Given the description of an element on the screen output the (x, y) to click on. 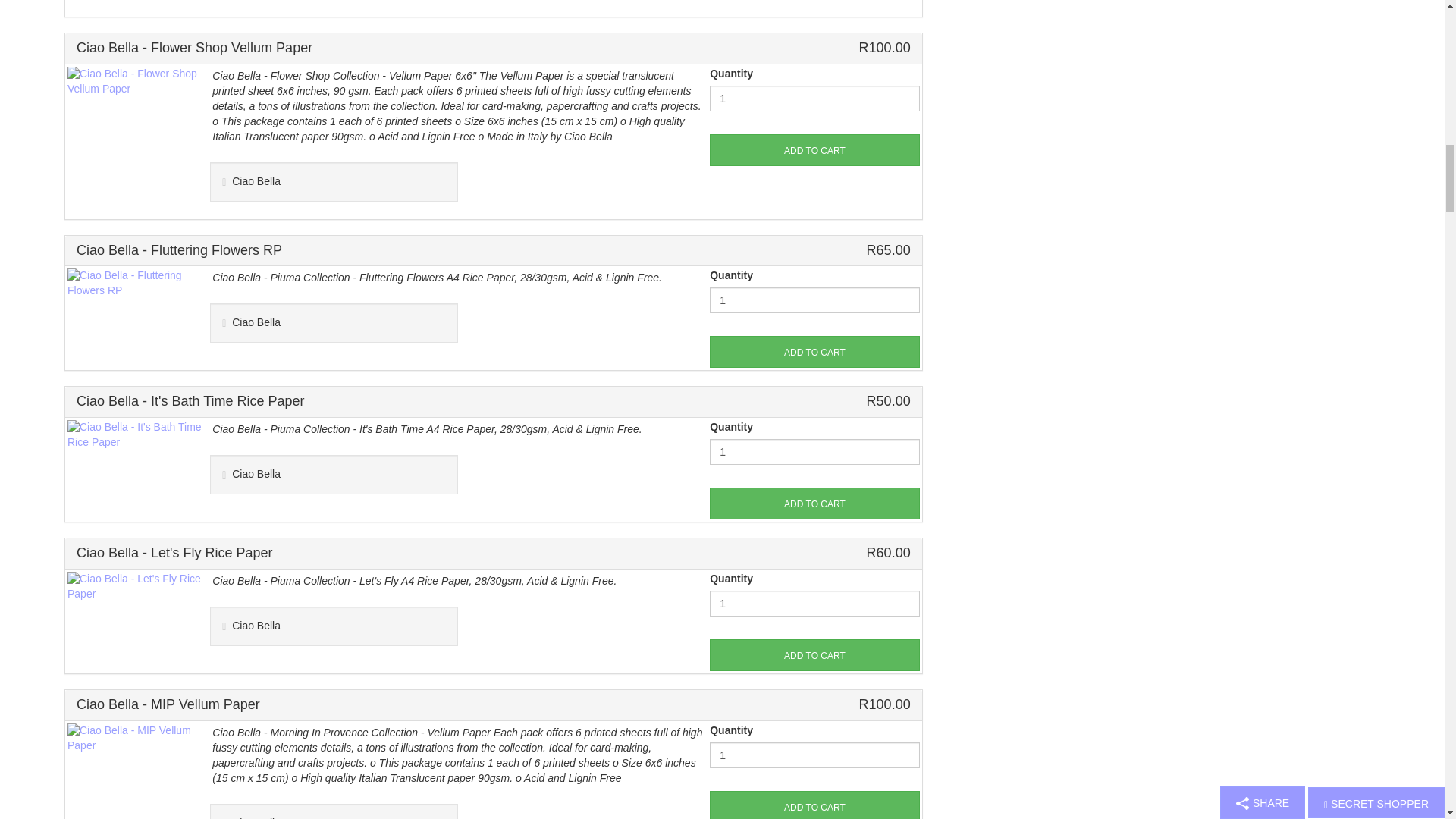
ADD TO CART (814, 503)
ADD TO CART (814, 351)
ADD TO CART (814, 150)
1 (814, 98)
Ciao Bella - Let's Fly Rice Paper (135, 585)
ADD TO CART (814, 805)
1 (814, 755)
1 (814, 299)
Ciao Bella - It's Bath Time Rice Paper (135, 434)
Ciao Bella - Fluttering Flowers RP (135, 282)
